Given the description of an element on the screen output the (x, y) to click on. 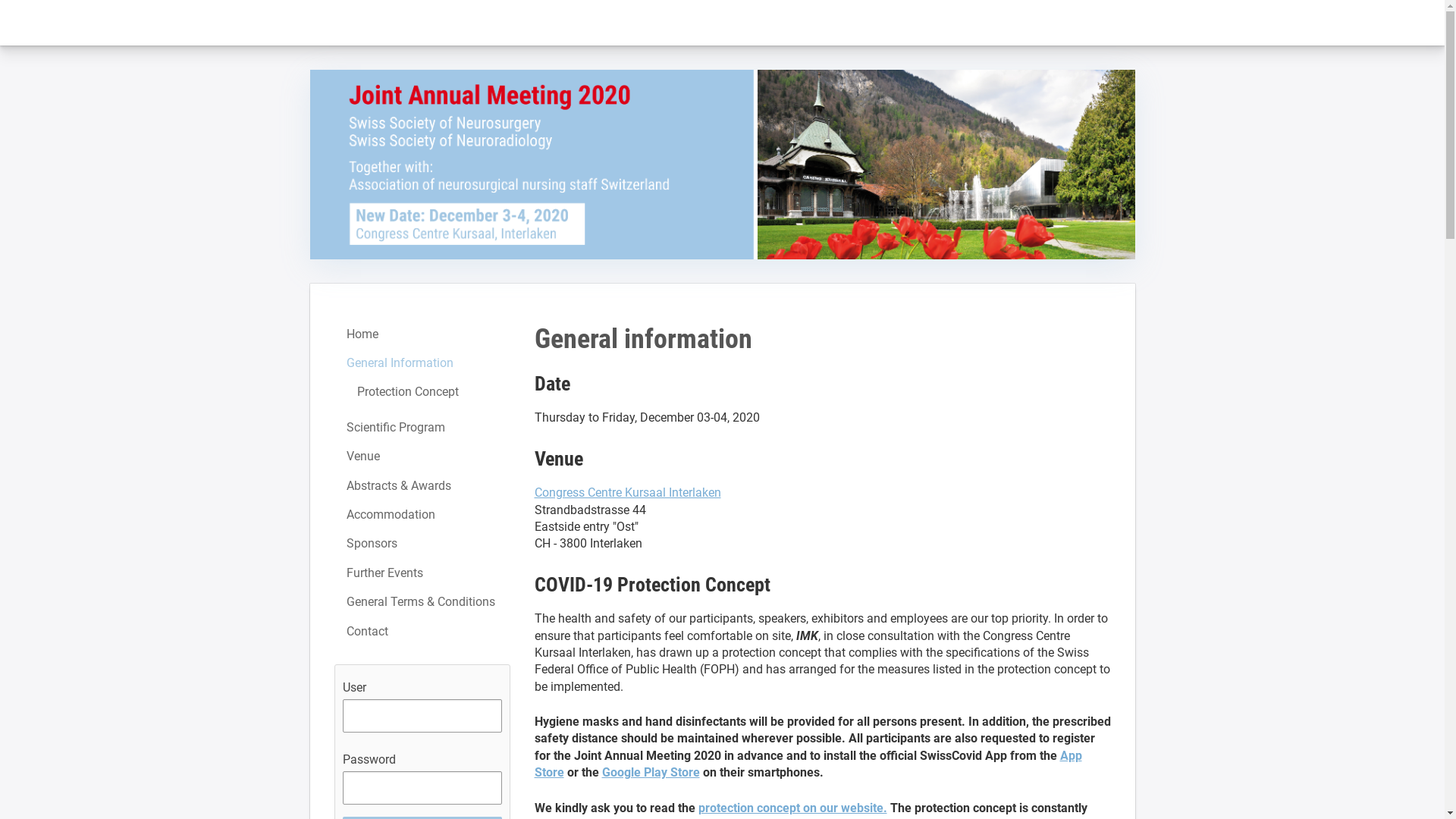
App Store Element type: text (807, 763)
Further Events Element type: text (421, 572)
Scientific Program Element type: text (421, 427)
Sponsors Element type: text (421, 543)
Contact Element type: text (421, 631)
Protection Concept Element type: text (421, 391)
General Terms & Conditions Element type: text (421, 601)
protection concept on our website. Element type: text (791, 807)
General Information Element type: text (421, 362)
Accommodation Element type: text (421, 514)
Home Element type: text (421, 334)
Congress Centre Kursaal Interlaken Element type: text (626, 492)
Google Play Store Element type: text (650, 772)
Abstracts & Awards Element type: text (421, 485)
Venue Element type: text (421, 456)
